Given the description of an element on the screen output the (x, y) to click on. 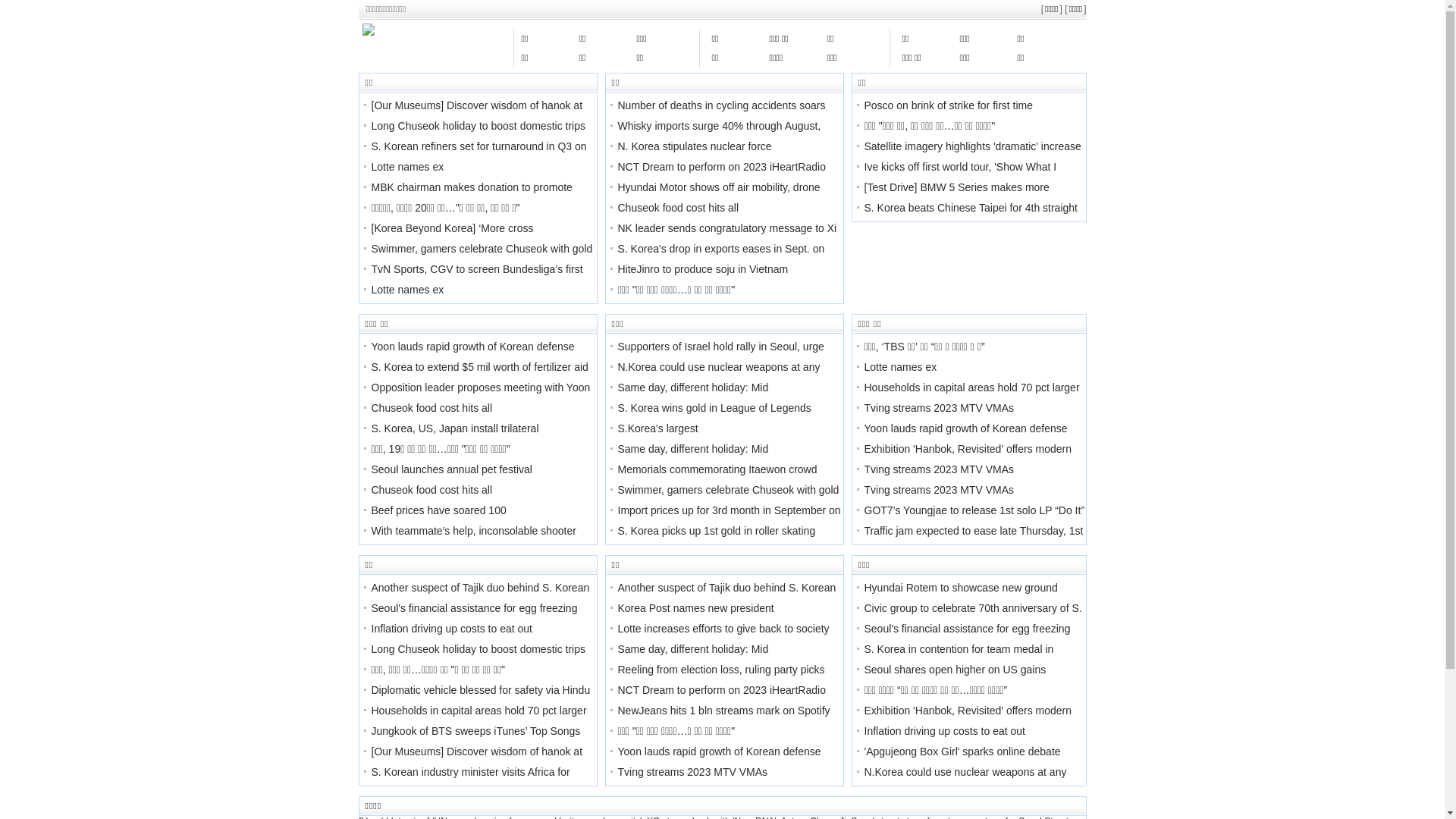
'Apgujeong Box Girl' sparks online debate Element type: text (962, 751)
Tving streams 2023 MTV VMAs Element type: text (939, 469)
Civic group to celebrate 70th anniversary of S. Korea Element type: text (973, 618)
Lotte names ex Element type: text (900, 366)
Inflation driving up costs to eat out Element type: text (944, 730)
Same day, different holiday: Mid Element type: text (692, 448)
Korea Post names new president Element type: text (695, 608)
Tving streams 2023 MTV VMAs Element type: text (692, 771)
Yoon lauds rapid growth of Korean defense industry Element type: text (718, 761)
S.Korea's largest Element type: text (657, 428)
Lotte increases efforts to give back to society Element type: text (722, 628)
HiteJinro to produce soju in Vietnam Element type: text (702, 269)
S. Korea picks up 1st gold in roller skating Element type: text (716, 530)
Swimmer, gamers celebrate Chuseok with gold medals Element type: text (482, 259)
Chuseok food cost hits all Element type: text (431, 489)
Long Chuseok holiday to boost domestic trips Element type: text (478, 125)
Whisky imports surge 40% through August, suggesting record Element type: text (718, 136)
S. Korea beats Chinese Taipei for 4th straight baseball gold Element type: text (970, 218)
Ive kicks off first world tour, 'Show What I Have' Element type: text (960, 177)
Inflation driving up costs to eat out Element type: text (451, 628)
Tving streams 2023 MTV VMAs Element type: text (939, 489)
Chuseok food cost hits all Element type: text (677, 207)
Tving streams 2023 MTV VMAs Element type: text (939, 407)
NCT Dream to perform on 2023 iHeartRadio Jingle Ball Tour Element type: text (721, 700)
Same day, different holiday: Mid Element type: text (692, 649)
S. Korea in contention for team medal in women's golf Element type: text (959, 659)
Number of deaths in cycling accidents soars Element type: text (721, 105)
Lotte names ex Element type: text (407, 166)
Seoul launches annual pet festival Element type: text (451, 469)
N. Korea stipulates nuclear force Element type: text (694, 146)
NCT Dream to perform on 2023 iHeartRadio Jingle Ball Tour Element type: text (721, 177)
NewJeans hits 1 bln streams mark on Spotify with debut album Element type: text (723, 720)
Yoon lauds rapid growth of Korean defense industry Element type: text (472, 356)
Lotte names ex Element type: text (407, 289)
Long Chuseok holiday to boost domestic trips Element type: text (478, 649)
Beef prices have soared 100 Element type: text (438, 510)
Same day, different holiday: Mid Element type: text (692, 387)
Seoul shares open higher on US gains Element type: text (955, 669)
Chuseok food cost hits all Element type: text (431, 407)
Satellite imagery highlights 'dramatic' increase in N. Korea Element type: text (972, 156)
Posco on brink of strike for first time Element type: text (948, 105)
Swimmer, gamers celebrate Chuseok with gold medals Element type: text (727, 500)
Yoon lauds rapid growth of Korean defense industry Element type: text (965, 438)
